Given the description of an element on the screen output the (x, y) to click on. 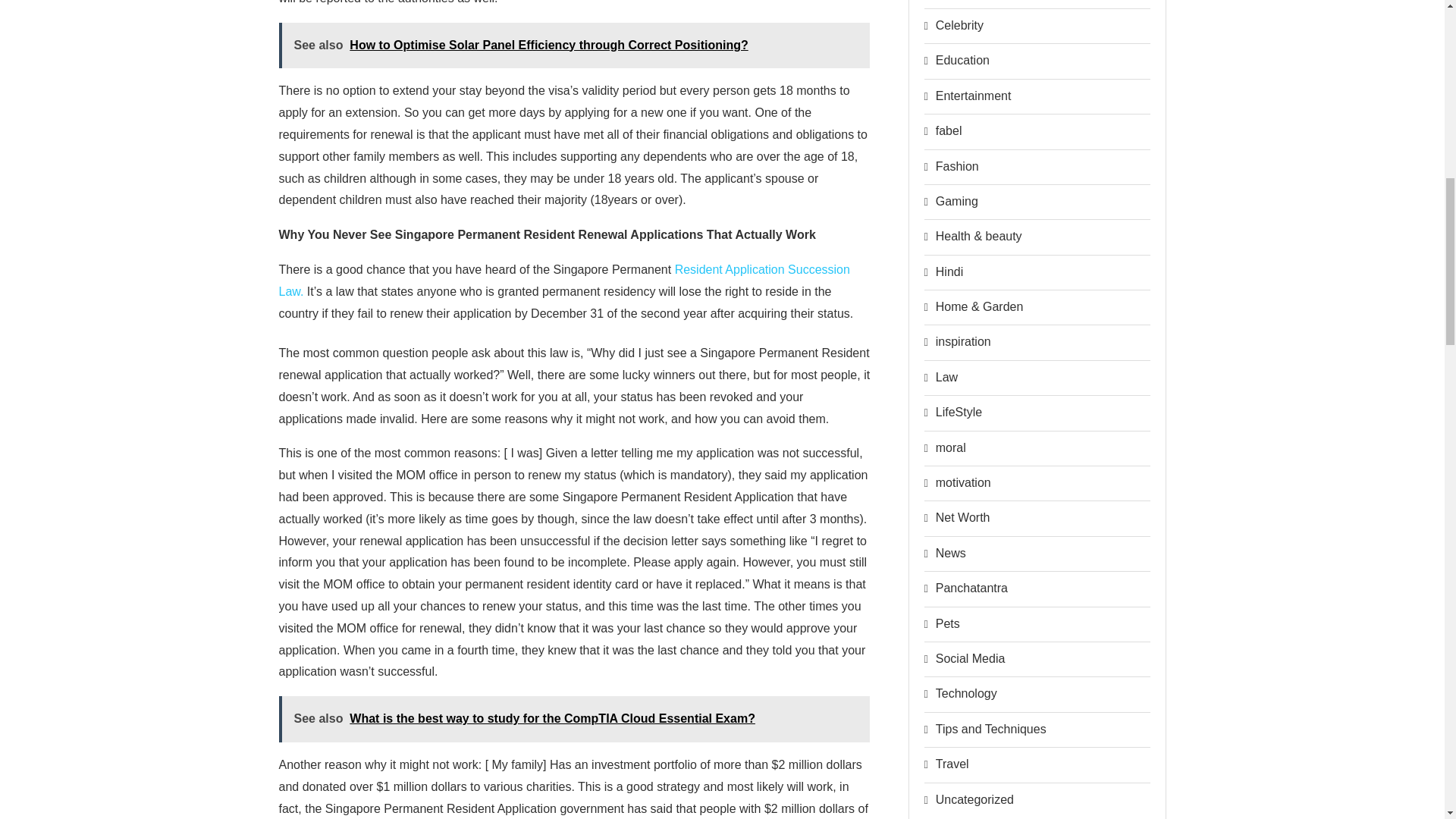
Resident Application Succession Law. (564, 280)
